Given the description of an element on the screen output the (x, y) to click on. 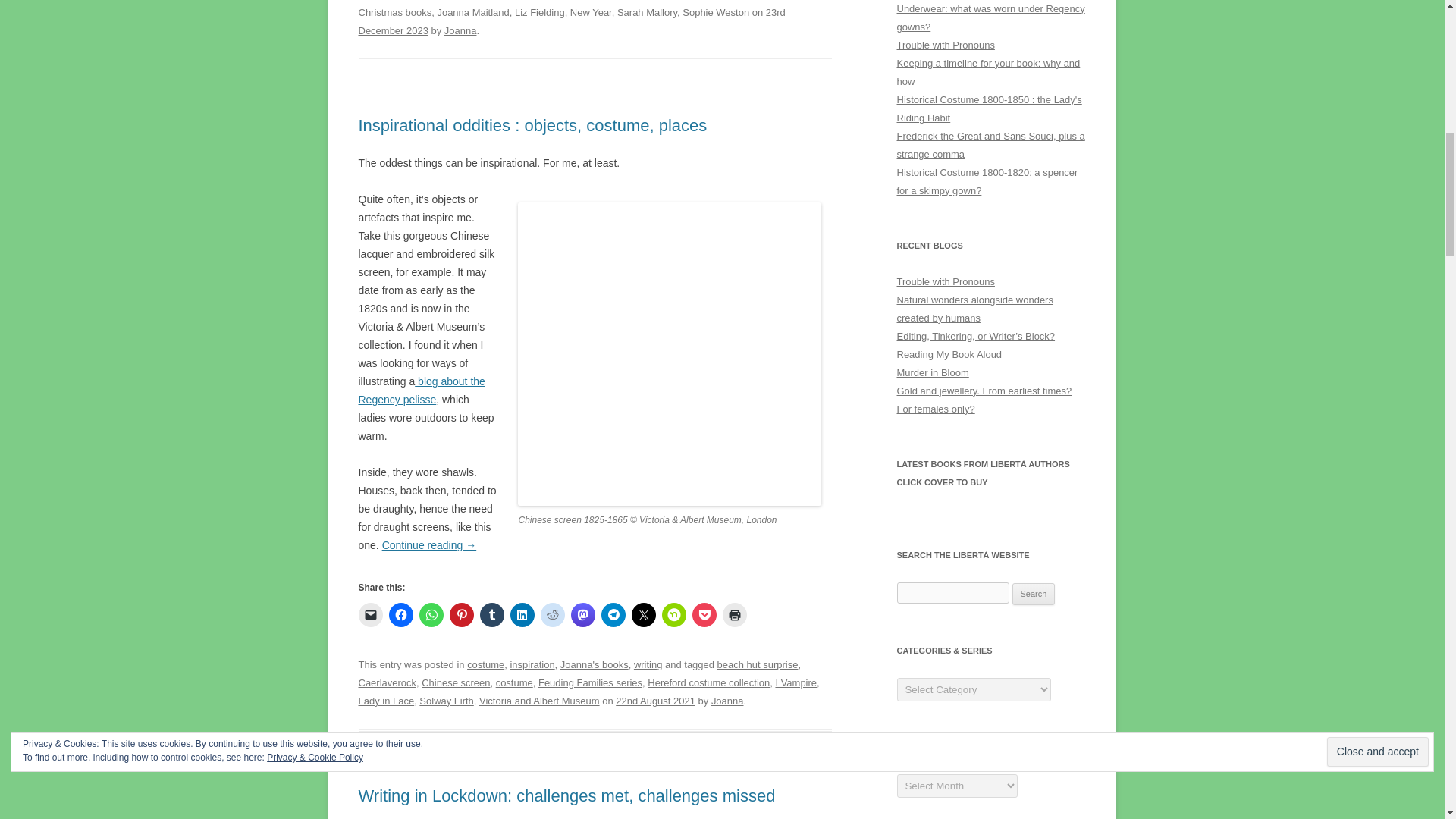
23:01 (571, 21)
Search (1033, 594)
Sarah Mallory (647, 12)
Christmas books (394, 12)
New Year (590, 12)
Liz Fielding (539, 12)
Joanna Maitland (472, 12)
View all posts by Joanna (460, 30)
